Given the description of an element on the screen output the (x, y) to click on. 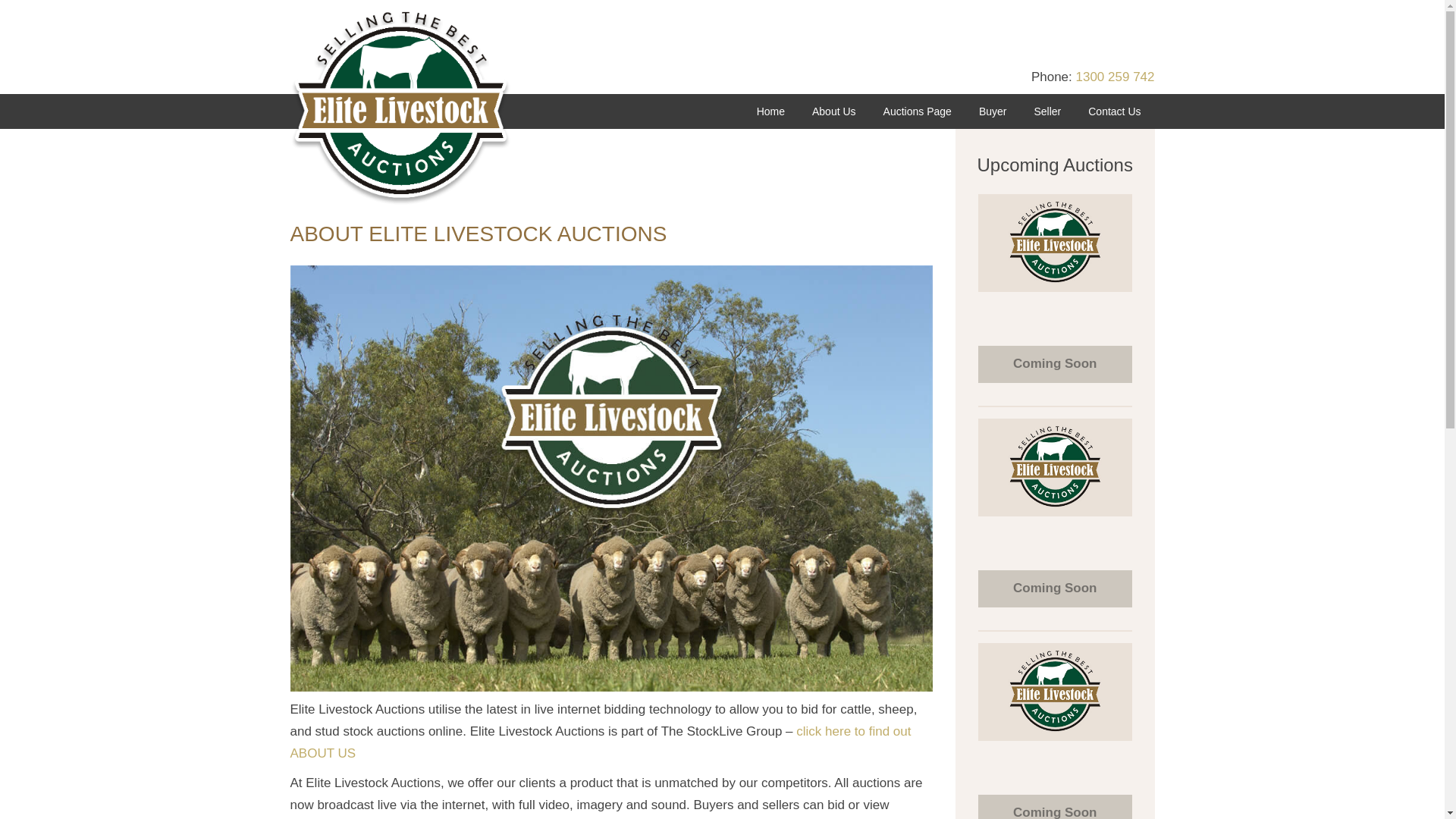
Seller Element type: text (1046, 111)
Home Element type: text (770, 111)
About Us Element type: text (833, 111)
1300 259 742 Element type: text (1114, 76)
Contact Us Element type: text (1114, 111)
Buyer Element type: text (992, 111)
Auctions Page Element type: text (917, 111)
click here to find out ABOUT US Element type: text (599, 742)
